Given the description of an element on the screen output the (x, y) to click on. 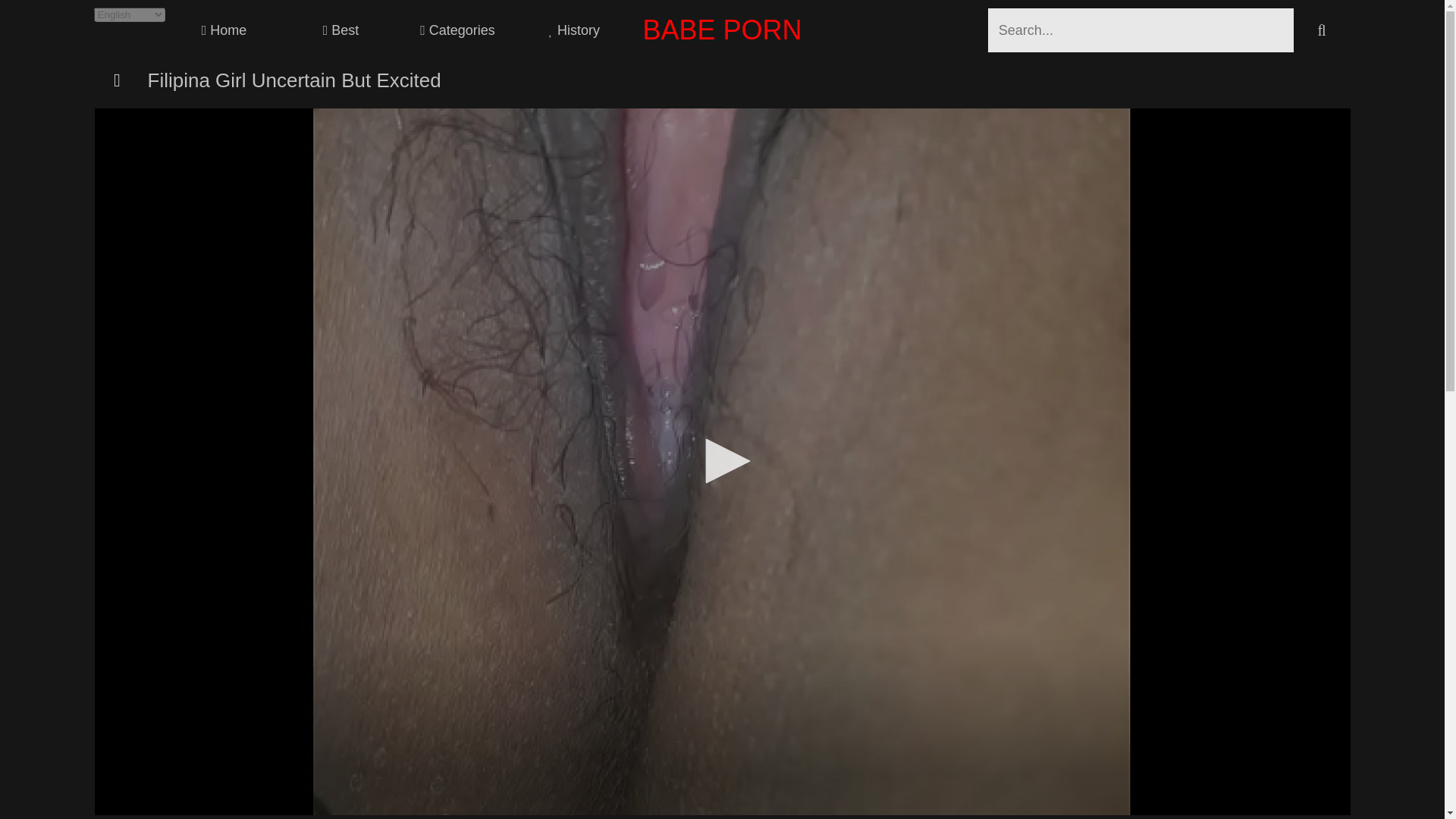
Best (340, 30)
Find (1322, 30)
History (573, 30)
Categories (457, 30)
Home (224, 30)
BABE PORN (722, 30)
